Given the description of an element on the screen output the (x, y) to click on. 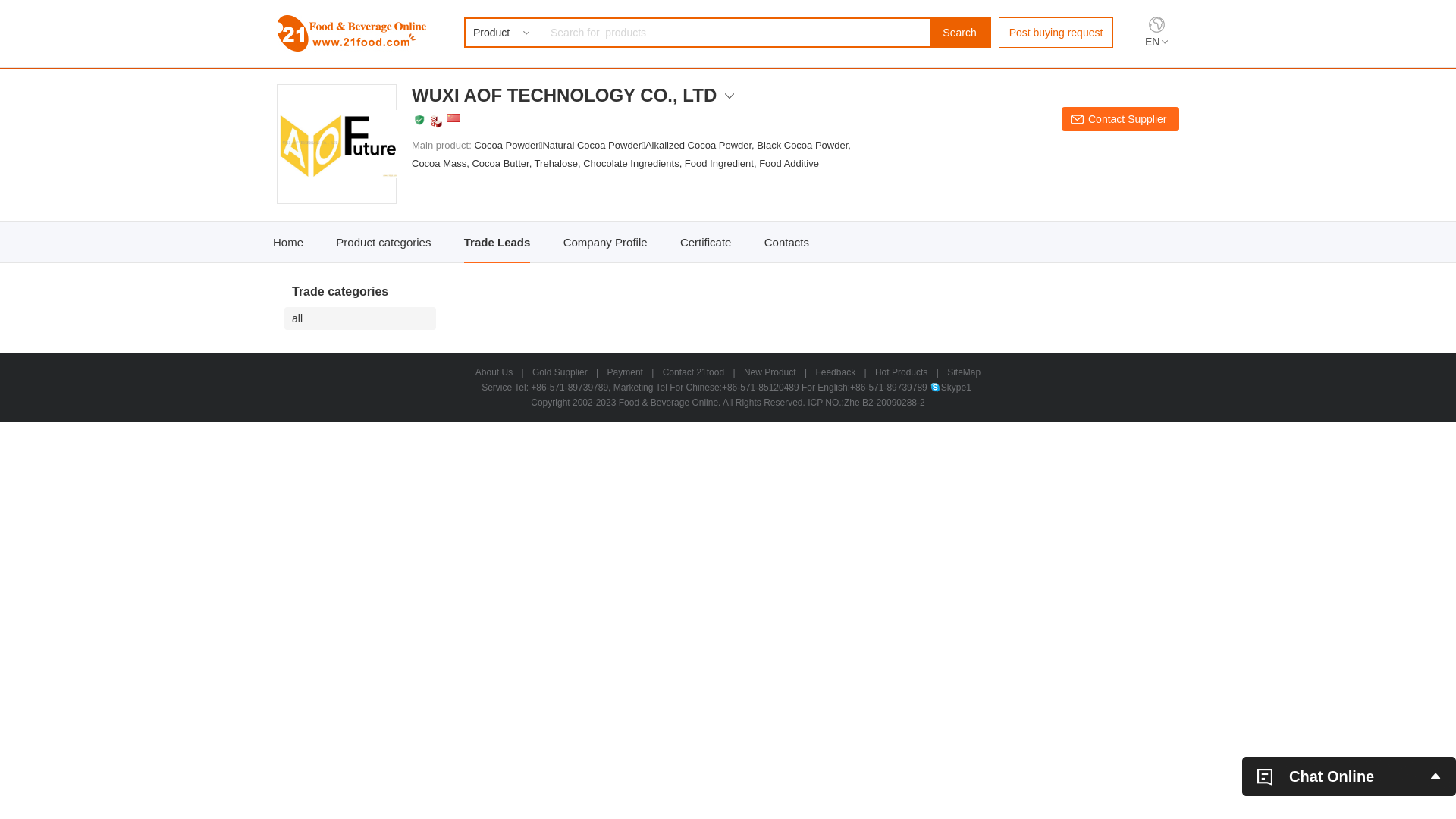
Home Element type: text (288, 242)
Contacts Element type: text (786, 242)
Gold Supplier Element type: text (559, 372)
Contact Supplier Element type: text (1120, 118)
Certificate Element type: text (705, 242)
China Element type: hover (453, 117)
Feedback Element type: text (835, 372)
Post buying request Element type: text (1055, 32)
Trade Leads Element type: text (497, 242)
Manufacture Element type: hover (435, 120)
Payment Element type: text (625, 372)
Product categories Element type: text (382, 242)
Skype1 Element type: text (950, 387)
Contact 21food Element type: text (693, 372)
Hot Products Element type: text (901, 372)
SiteMap Element type: text (963, 372)
all Element type: text (363, 318)
Search Element type: text (959, 32)
EN Element type: text (1156, 41)
Company Profile Element type: text (605, 242)
New Product Element type: text (769, 372)
About Us Element type: text (493, 372)
